Given the description of an element on the screen output the (x, y) to click on. 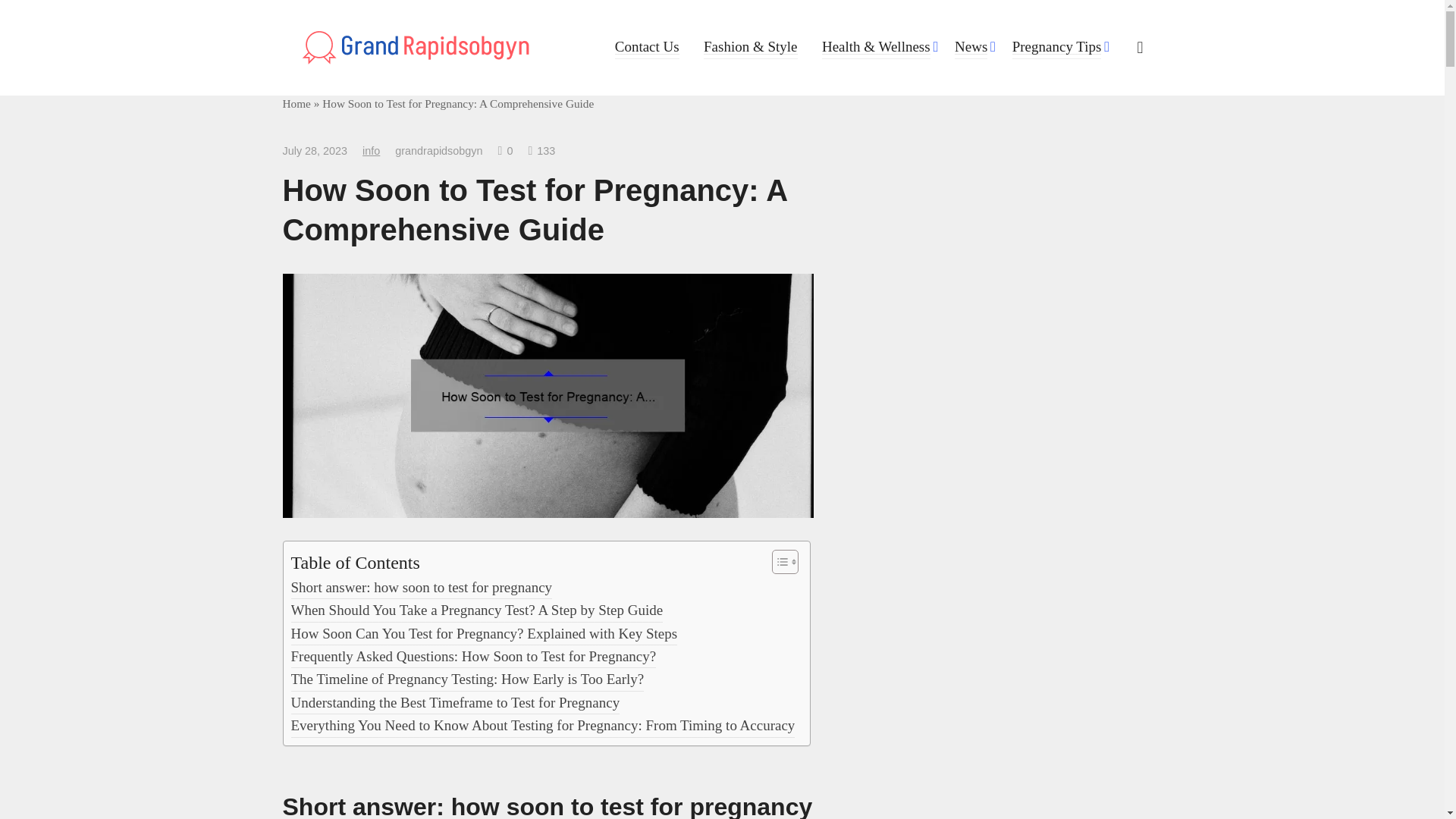
Frequently Asked Questions: How Soon to Test for Pregnancy? (473, 656)
News (971, 46)
Contact Us (646, 46)
Short answer: how soon to test for pregnancy (422, 587)
Understanding the Best Timeframe to Test for Pregnancy (455, 702)
info (371, 150)
When Should You Take a Pregnancy Test? A Step by Step Guide (477, 609)
Home (296, 103)
The Timeline of Pregnancy Testing: How Early is Too Early? (468, 679)
